Given the description of an element on the screen output the (x, y) to click on. 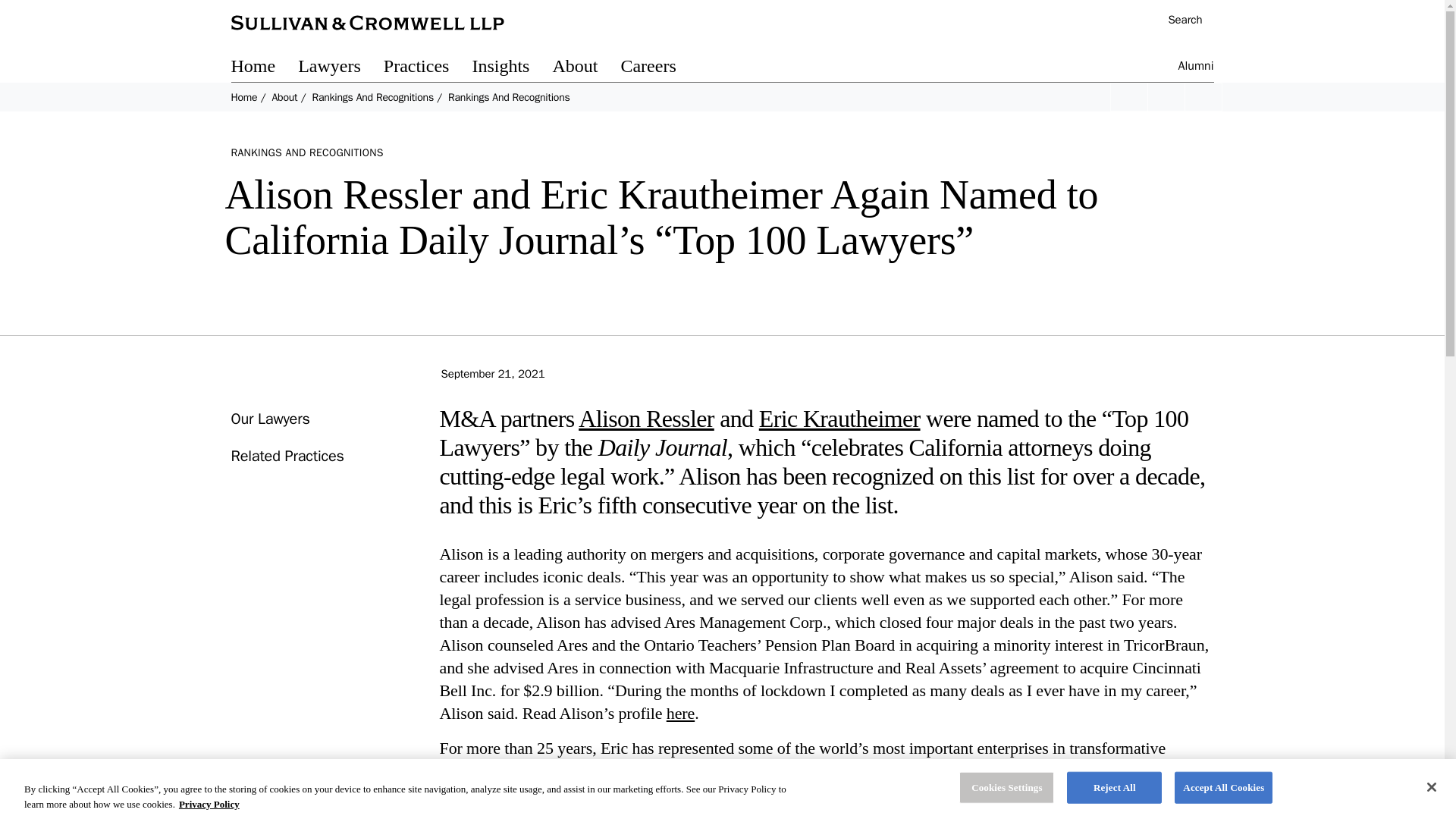
Search (1176, 20)
Our Lawyers (269, 418)
Alison Ressler (646, 418)
Lawyers (341, 67)
Eric Krautheimer (839, 418)
Alumni (1195, 67)
Home (264, 67)
Rankings And Recognitions (372, 97)
Home (243, 97)
here (680, 712)
About (283, 97)
Careers (659, 67)
About (585, 67)
Related Practices (286, 456)
Insights (511, 67)
